Given the description of an element on the screen output the (x, y) to click on. 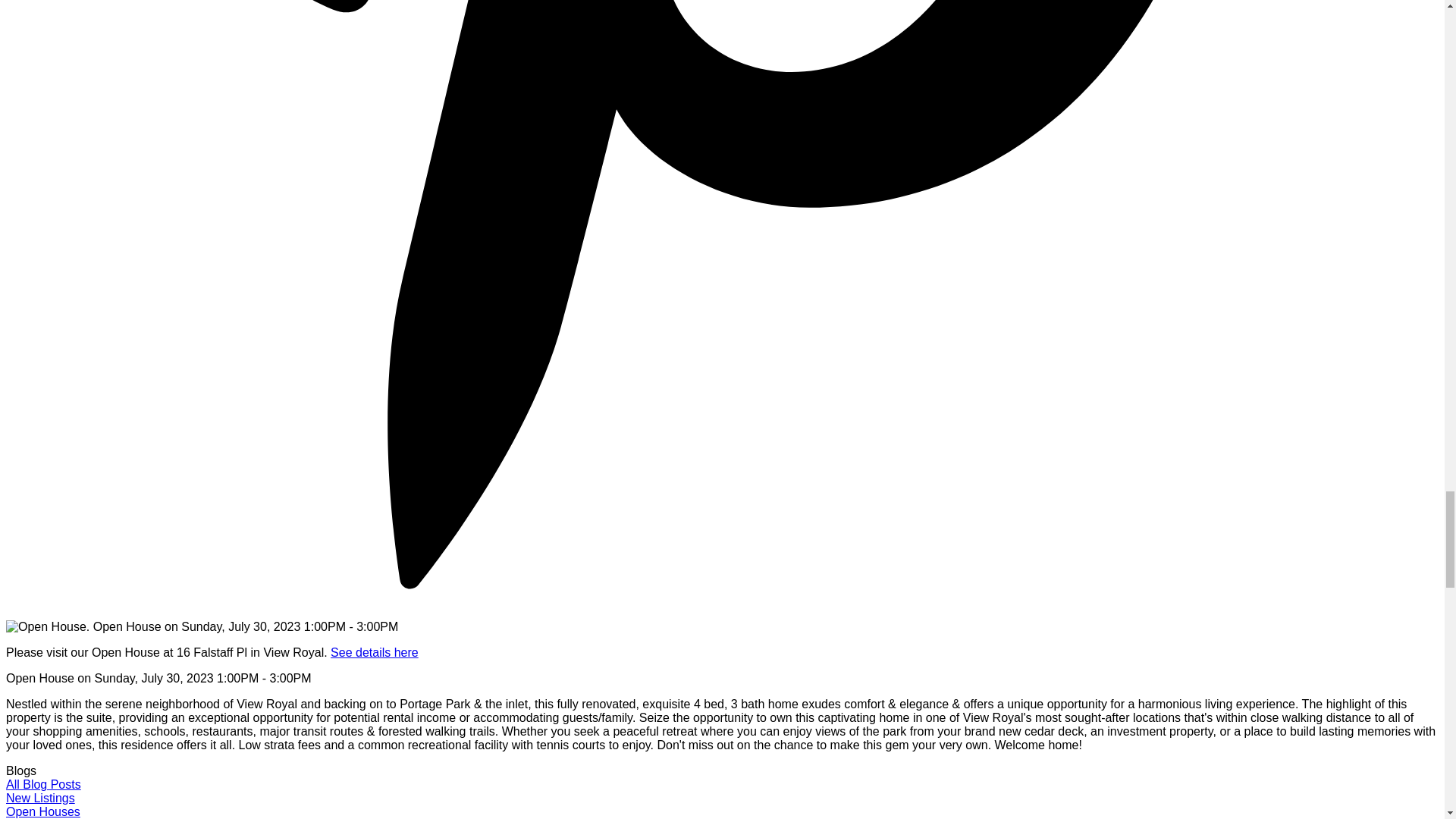
Open Houses (42, 811)
See details here (374, 652)
New Listings (40, 797)
All Blog Posts (43, 784)
